Given the description of an element on the screen output the (x, y) to click on. 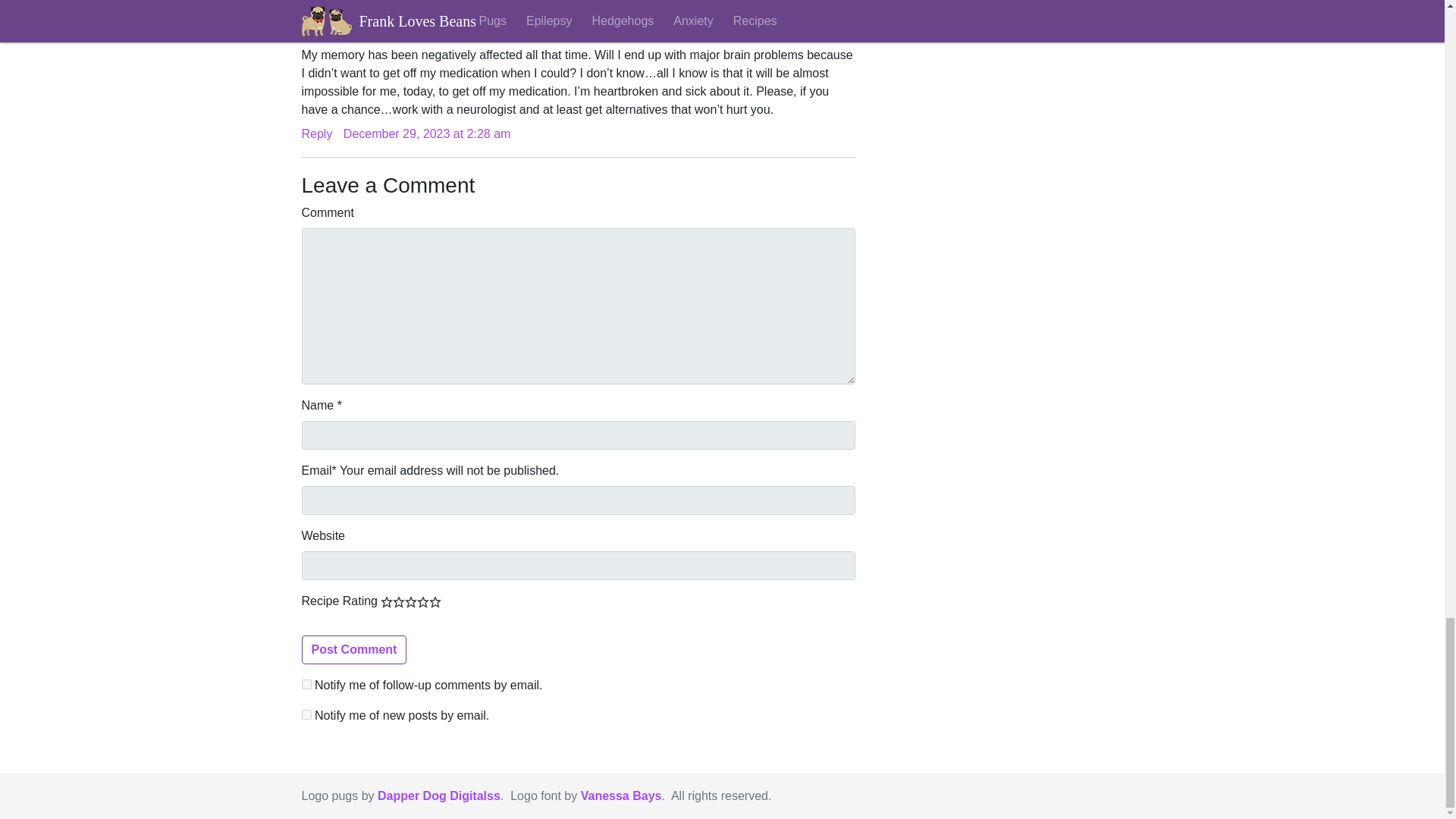
December 29, 2023 at 2:28 am (427, 133)
subscribe (306, 714)
Dapper Dog Digitalss (438, 795)
subscribe (306, 684)
Post Comment (354, 649)
Reply (317, 133)
Post Comment (354, 649)
Vanessa Bays (621, 795)
